Given the description of an element on the screen output the (x, y) to click on. 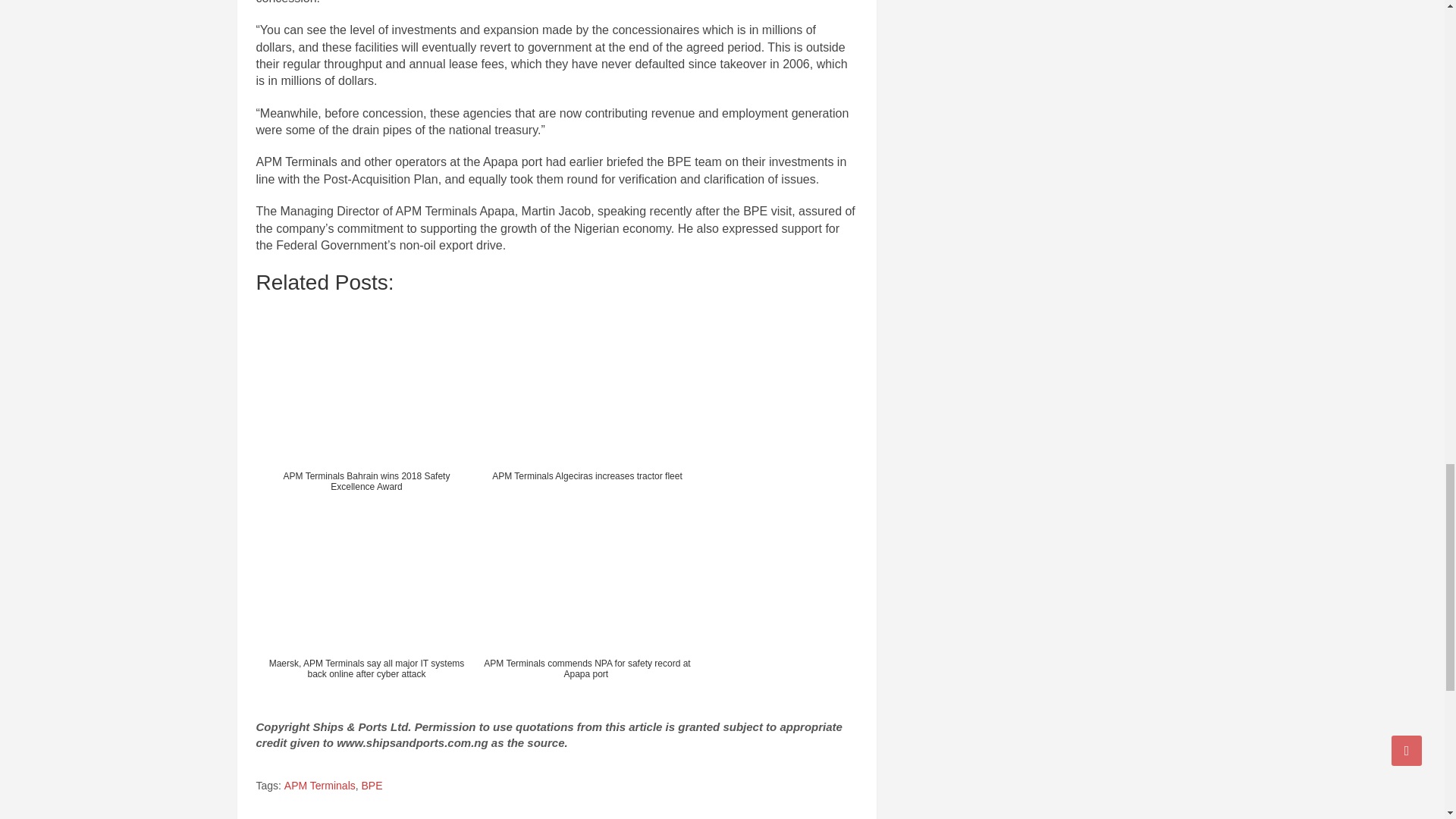
APM Terminals Algeciras increases tractor fleet (586, 404)
APM Terminals commends NPA for safety record at Apapa port  (586, 591)
APM Terminals Bahrain wins 2018 Safety Excellence Award (366, 404)
